Given the description of an element on the screen output the (x, y) to click on. 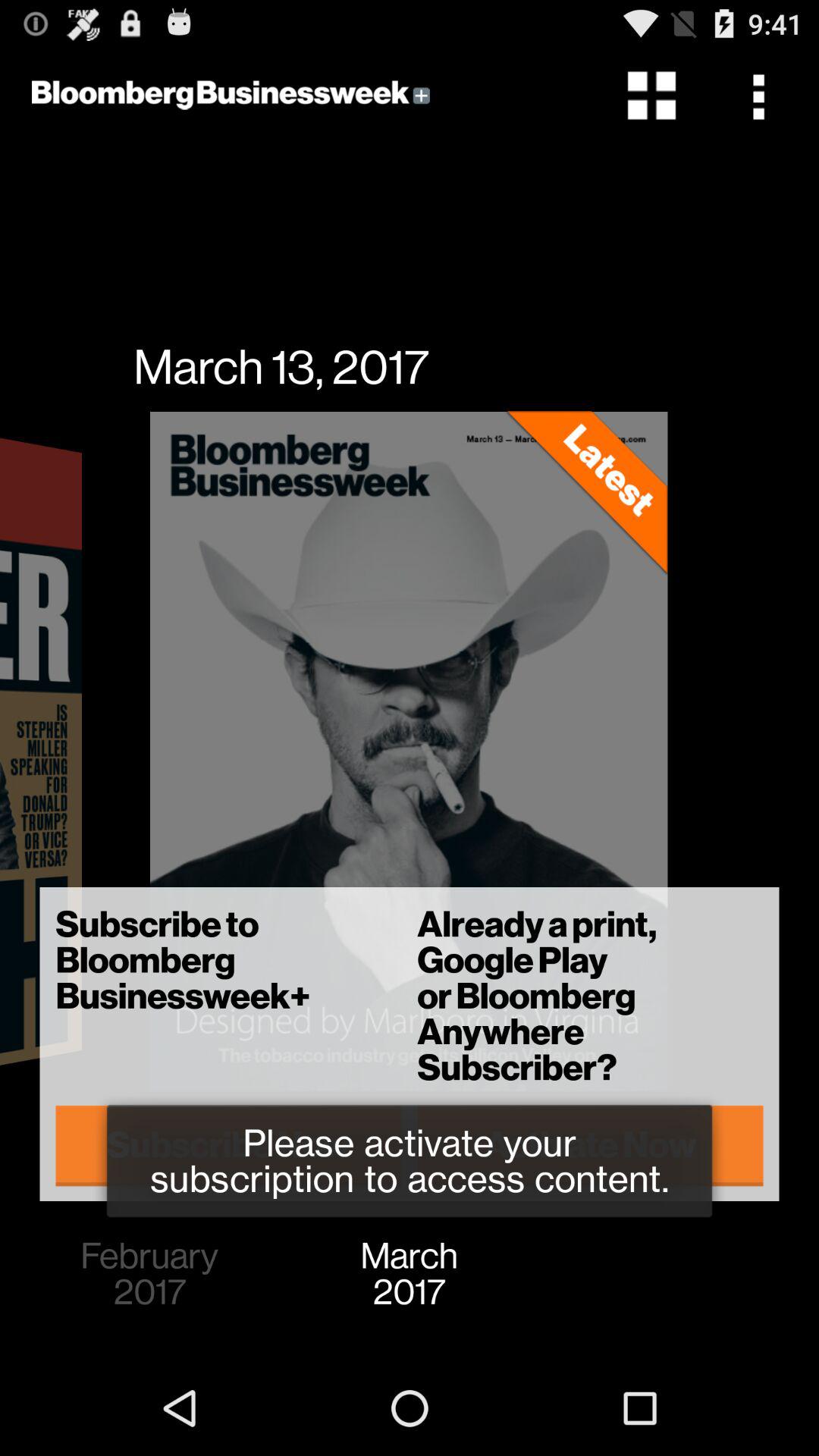
launch the item below the subscribe to bloomberg item (590, 1145)
